Given the description of an element on the screen output the (x, y) to click on. 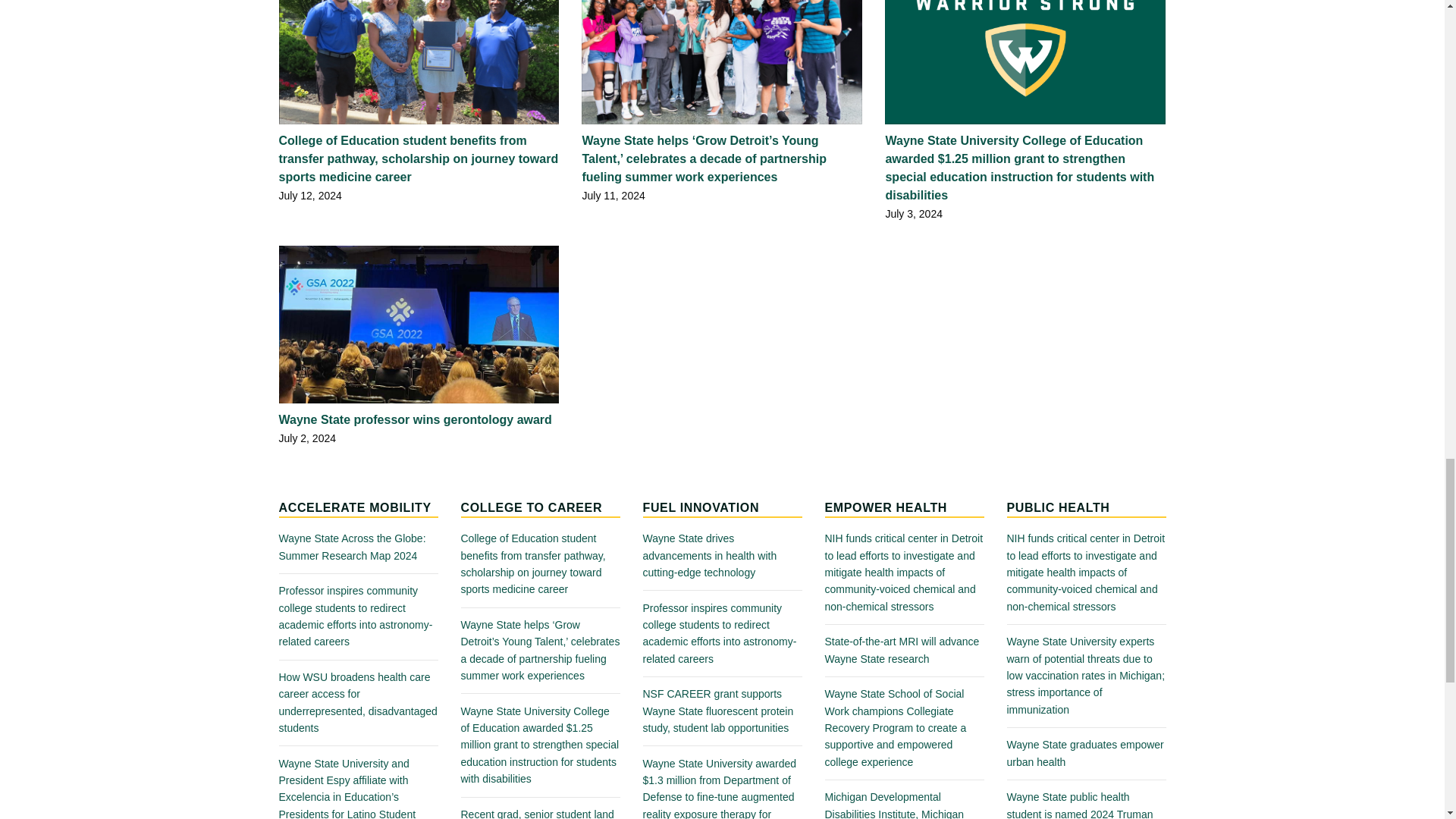
Wayne State professor wins gerontology award (419, 427)
Wayne State Across the Globe: Summer Research Map 2024 (358, 546)
